Given the description of an element on the screen output the (x, y) to click on. 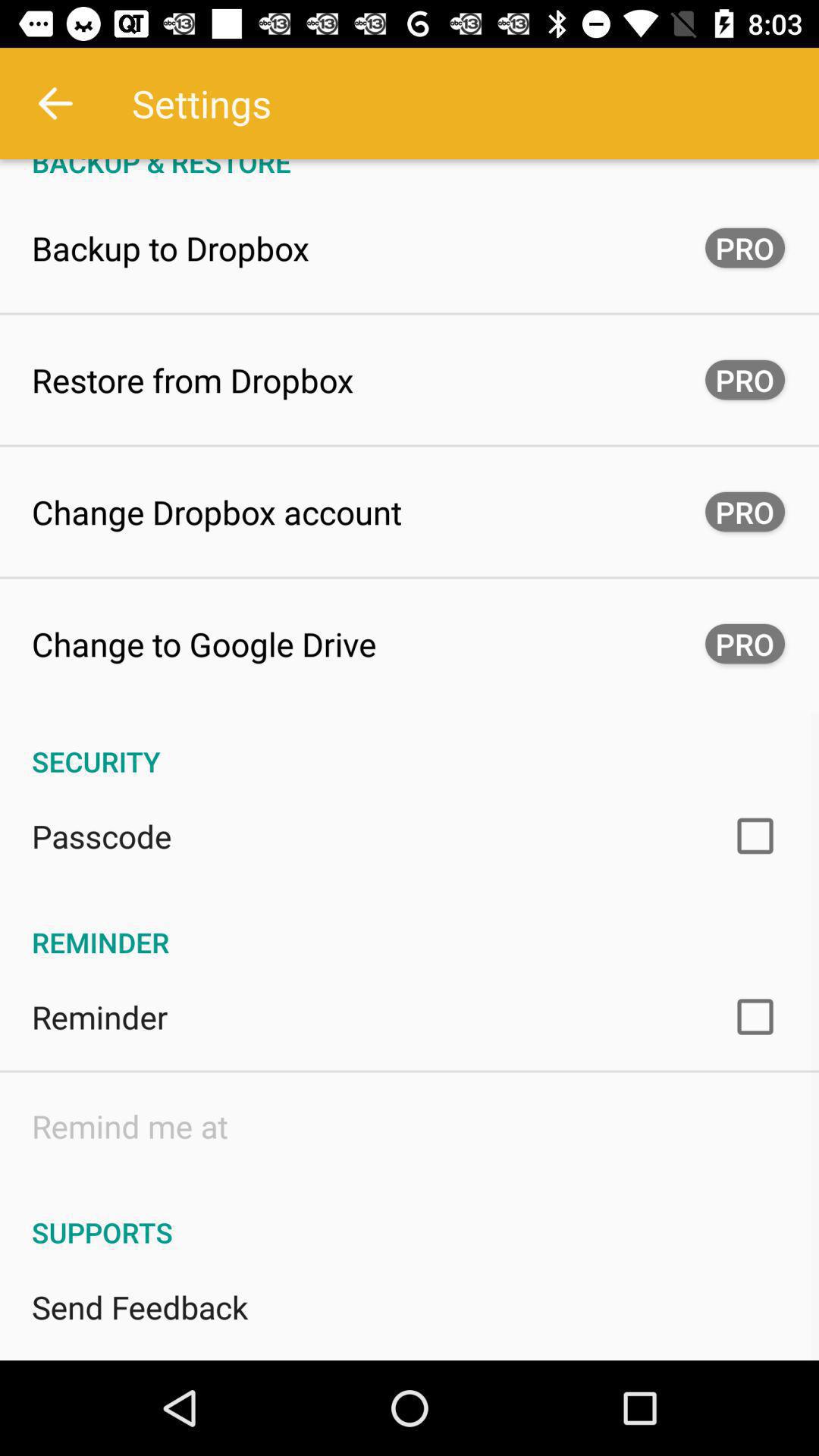
open send feedback icon (139, 1306)
